Given the description of an element on the screen output the (x, y) to click on. 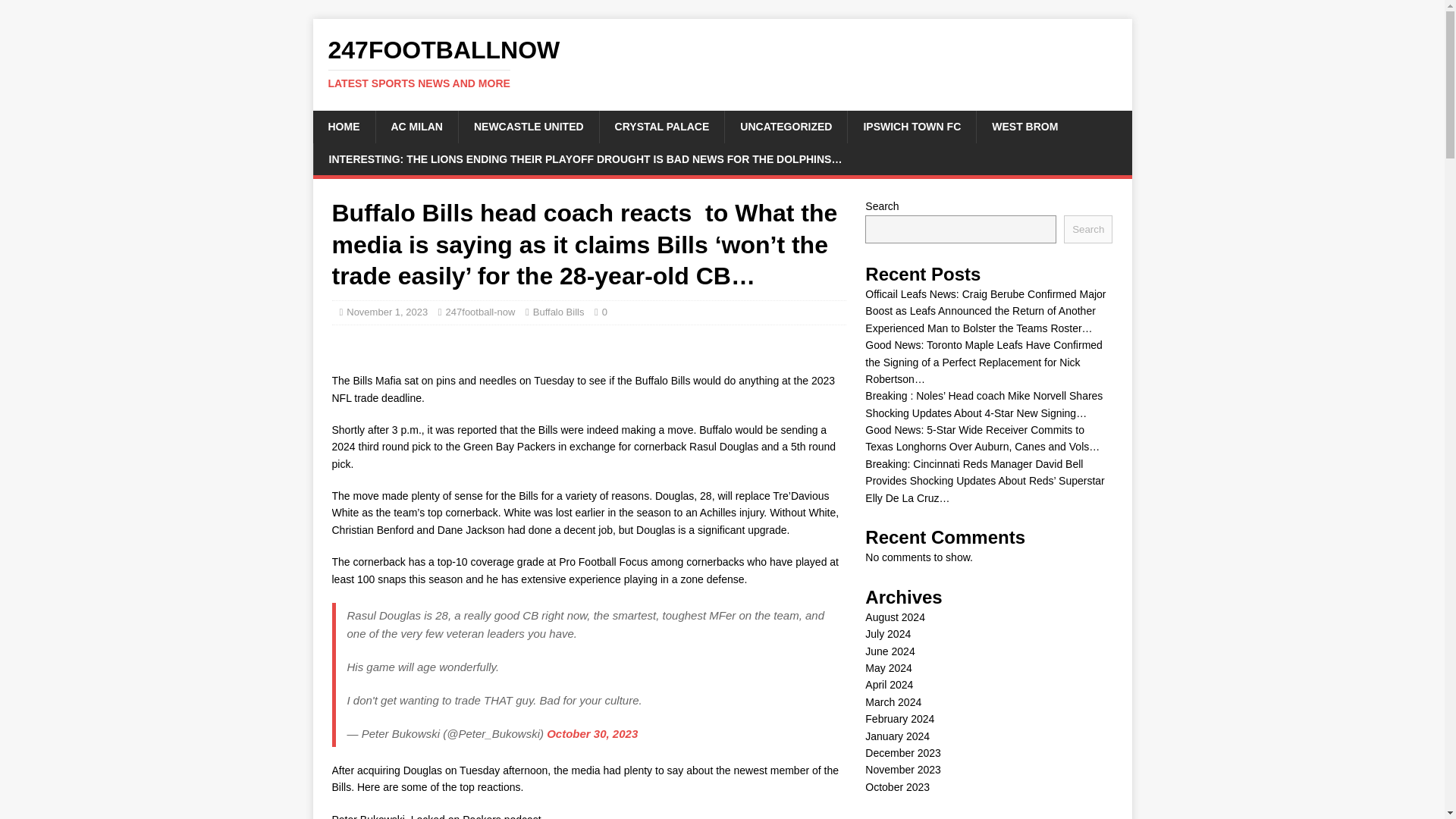
April 2024 (888, 684)
January 2024 (897, 736)
Search (1088, 229)
July 2024 (887, 633)
November 2023 (902, 769)
IPSWICH TOWN FC (911, 126)
October 30, 2023 (592, 733)
June 2024 (889, 651)
247football-now (480, 311)
WEST BROM (1024, 126)
